Given the description of an element on the screen output the (x, y) to click on. 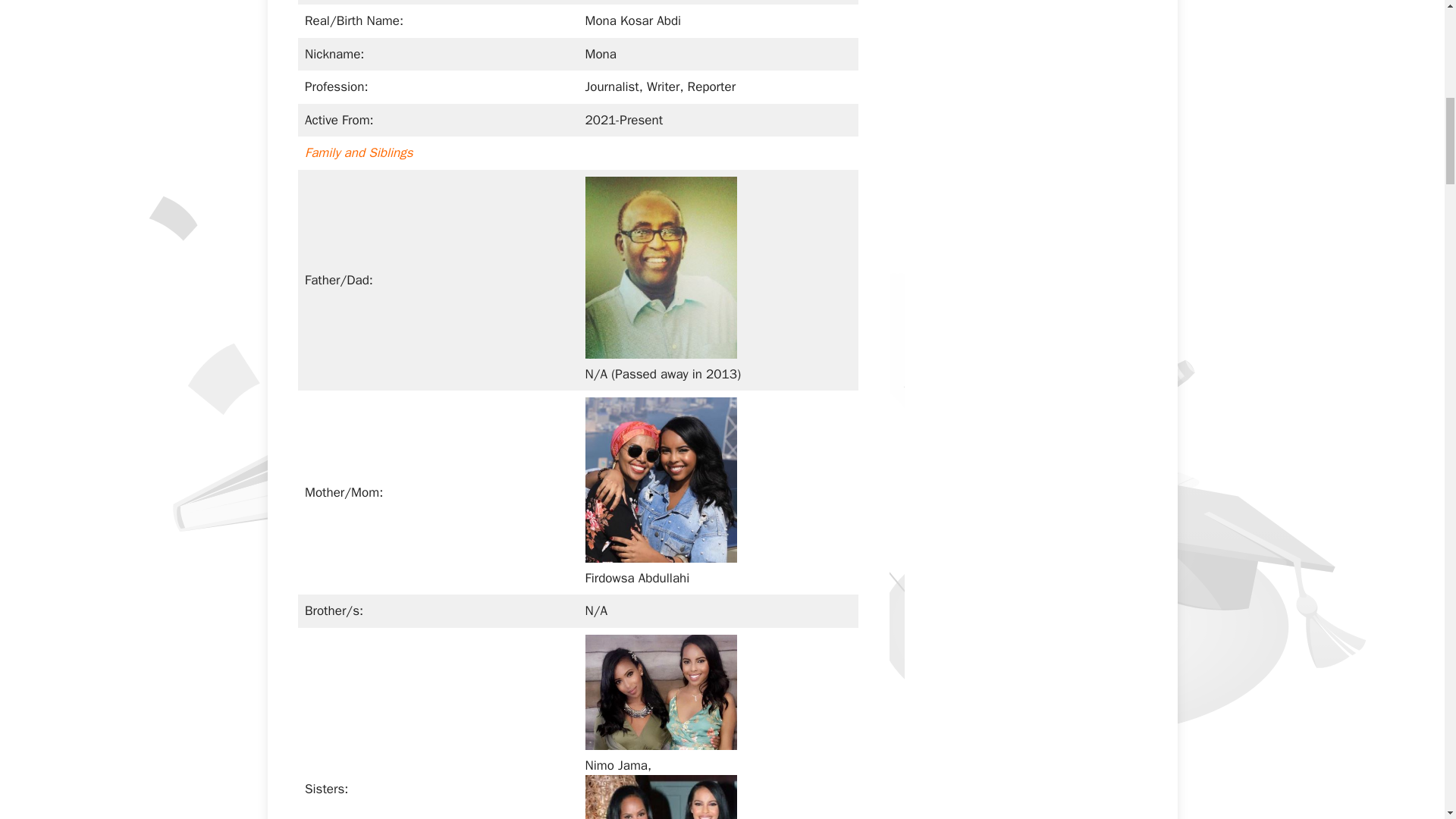
Scroll back to top (1406, 720)
